Given the description of an element on the screen output the (x, y) to click on. 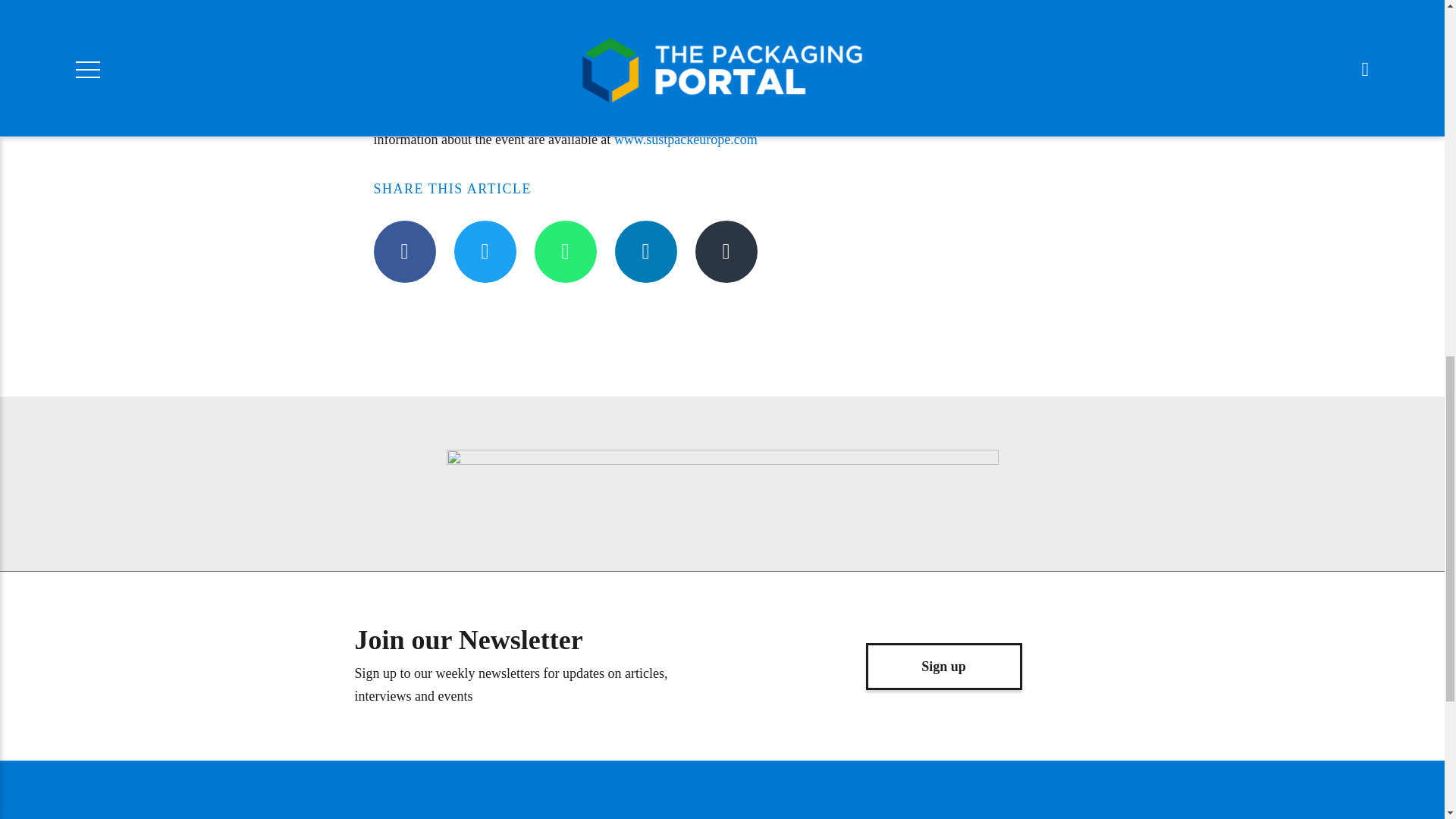
Sign up (944, 666)
Share on Twitter (483, 251)
Share on Facebook (403, 251)
Share on LinkedIn (645, 251)
Send link to friend (725, 251)
www.sustpackeurope.com (685, 139)
Share on Whatsapp (564, 251)
